Given the description of an element on the screen output the (x, y) to click on. 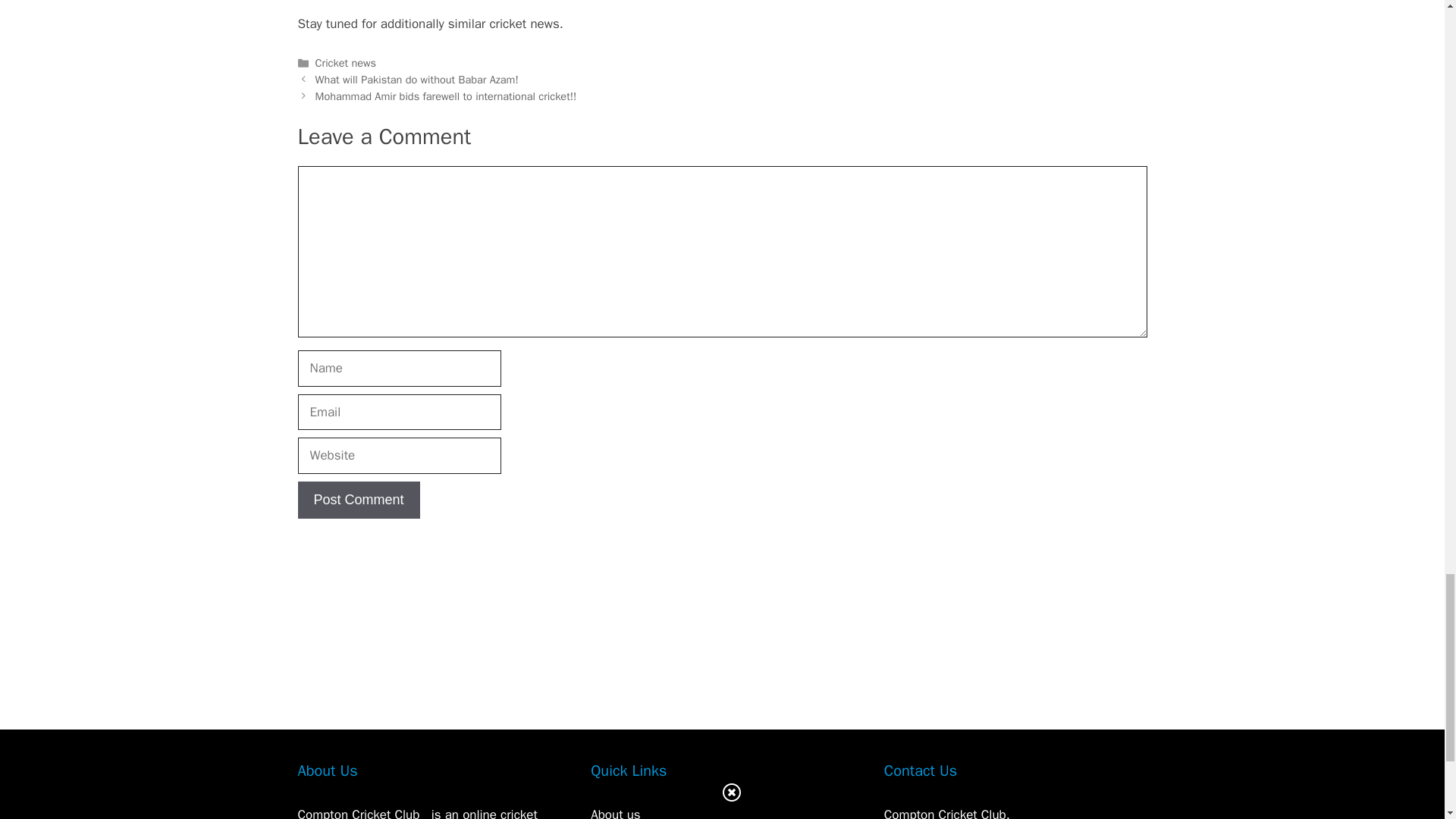
About us (615, 812)
What will Pakistan do without Babar Azam! (416, 79)
Mohammad Amir bids farewell to international cricket!! (445, 96)
Cricket news (345, 62)
Post Comment (358, 499)
Post Comment (358, 499)
